Given the description of an element on the screen output the (x, y) to click on. 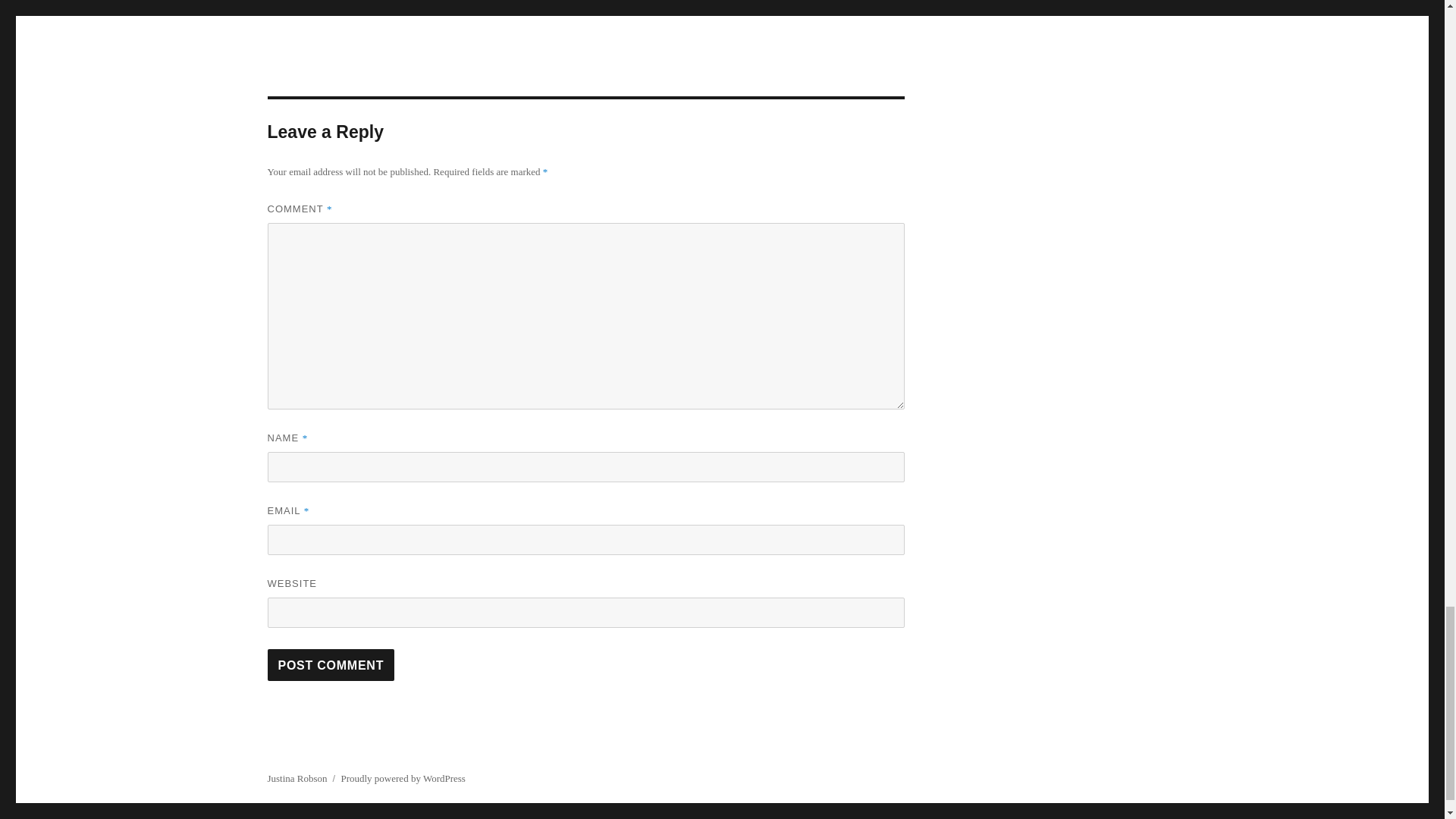
Proudly powered by WordPress (402, 778)
Justina Robson (296, 778)
Reply (306, 5)
Post Comment (330, 664)
Post Comment (330, 664)
